Given the description of an element on the screen output the (x, y) to click on. 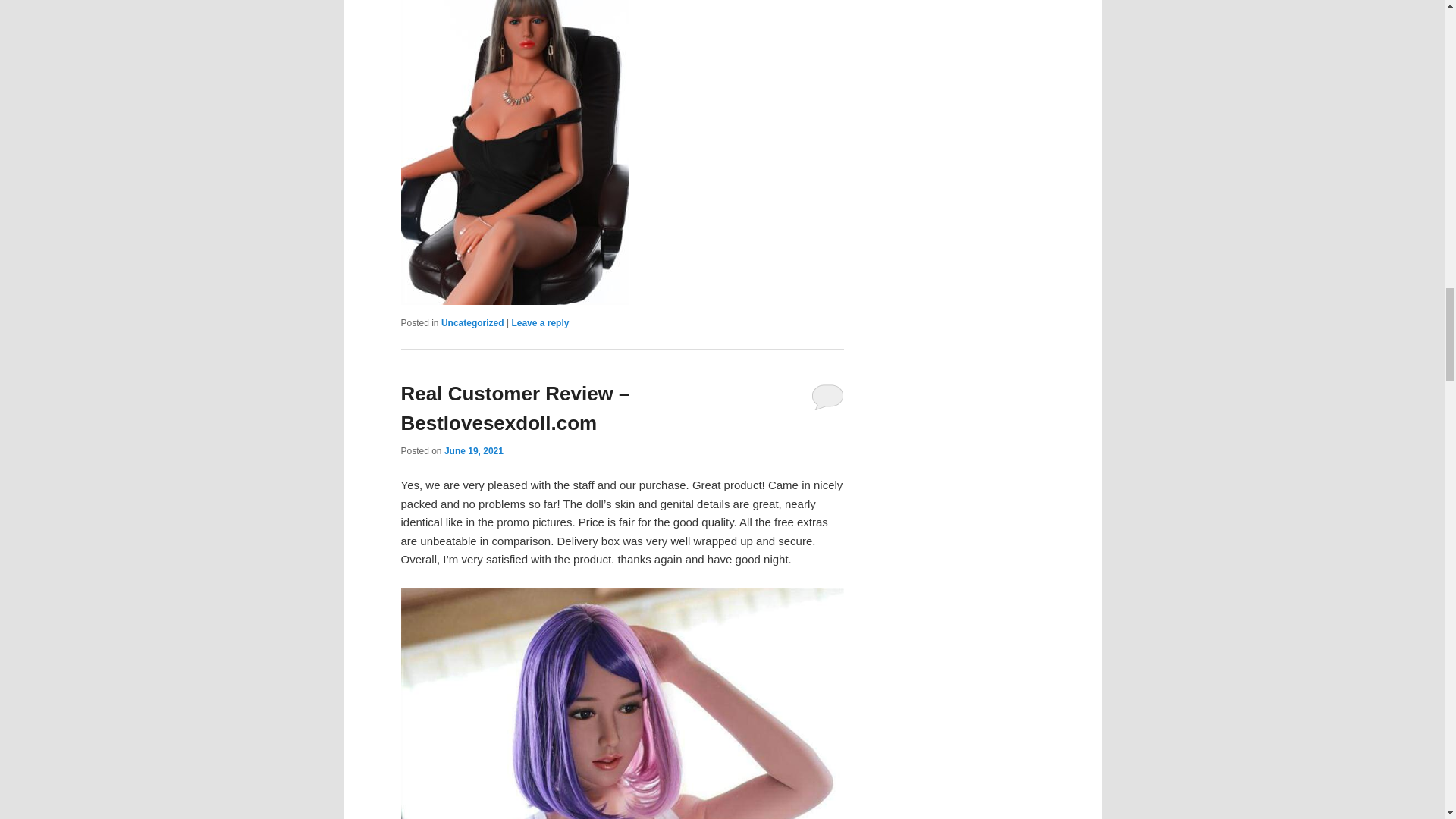
Leave a reply (540, 322)
9:08 am (473, 450)
Uncategorized (472, 322)
June 19, 2021 (473, 450)
